Given the description of an element on the screen output the (x, y) to click on. 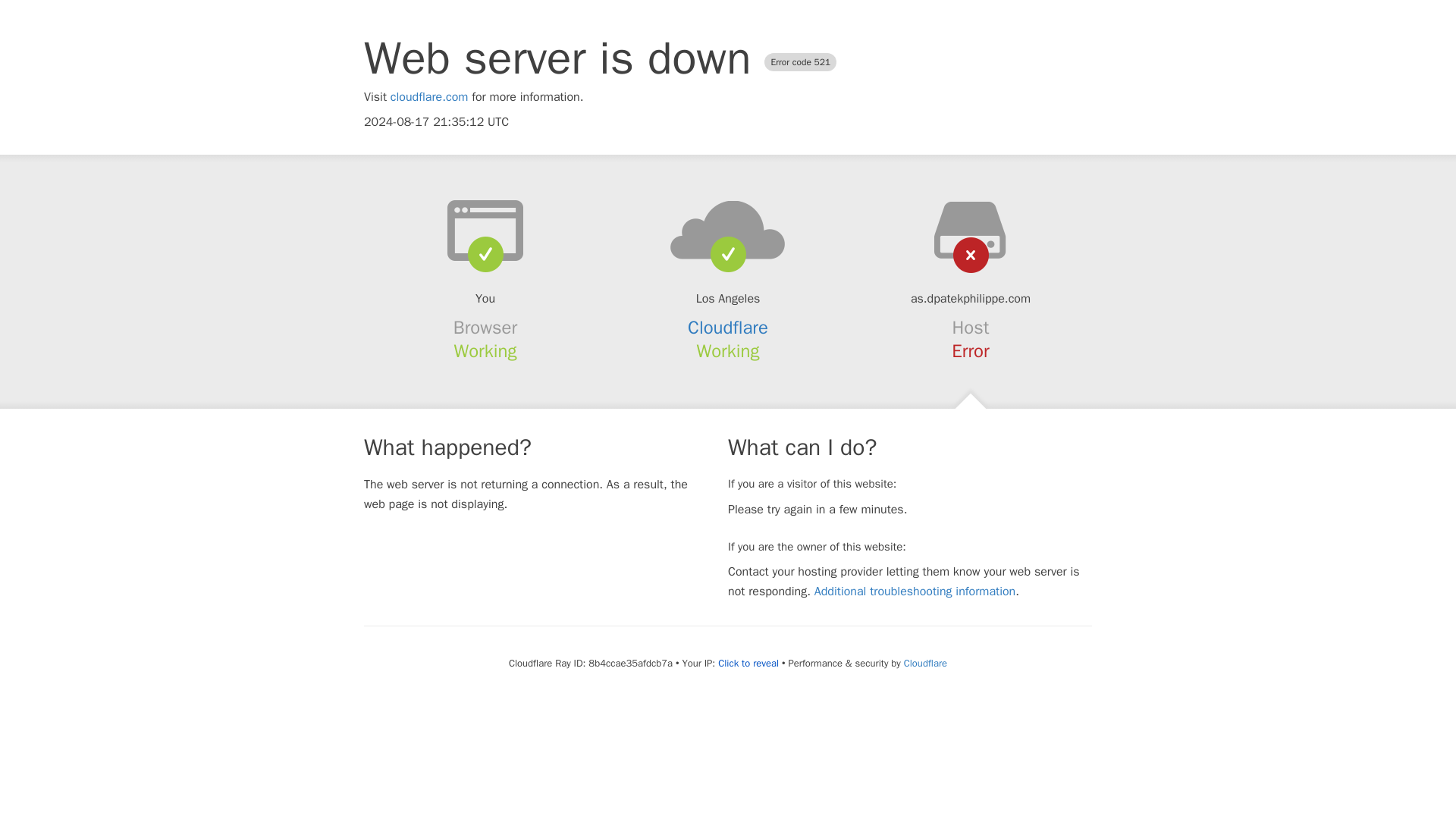
Cloudflare (727, 327)
Click to reveal (747, 663)
Cloudflare (925, 662)
cloudflare.com (429, 96)
Additional troubleshooting information (913, 590)
